Given the description of an element on the screen output the (x, y) to click on. 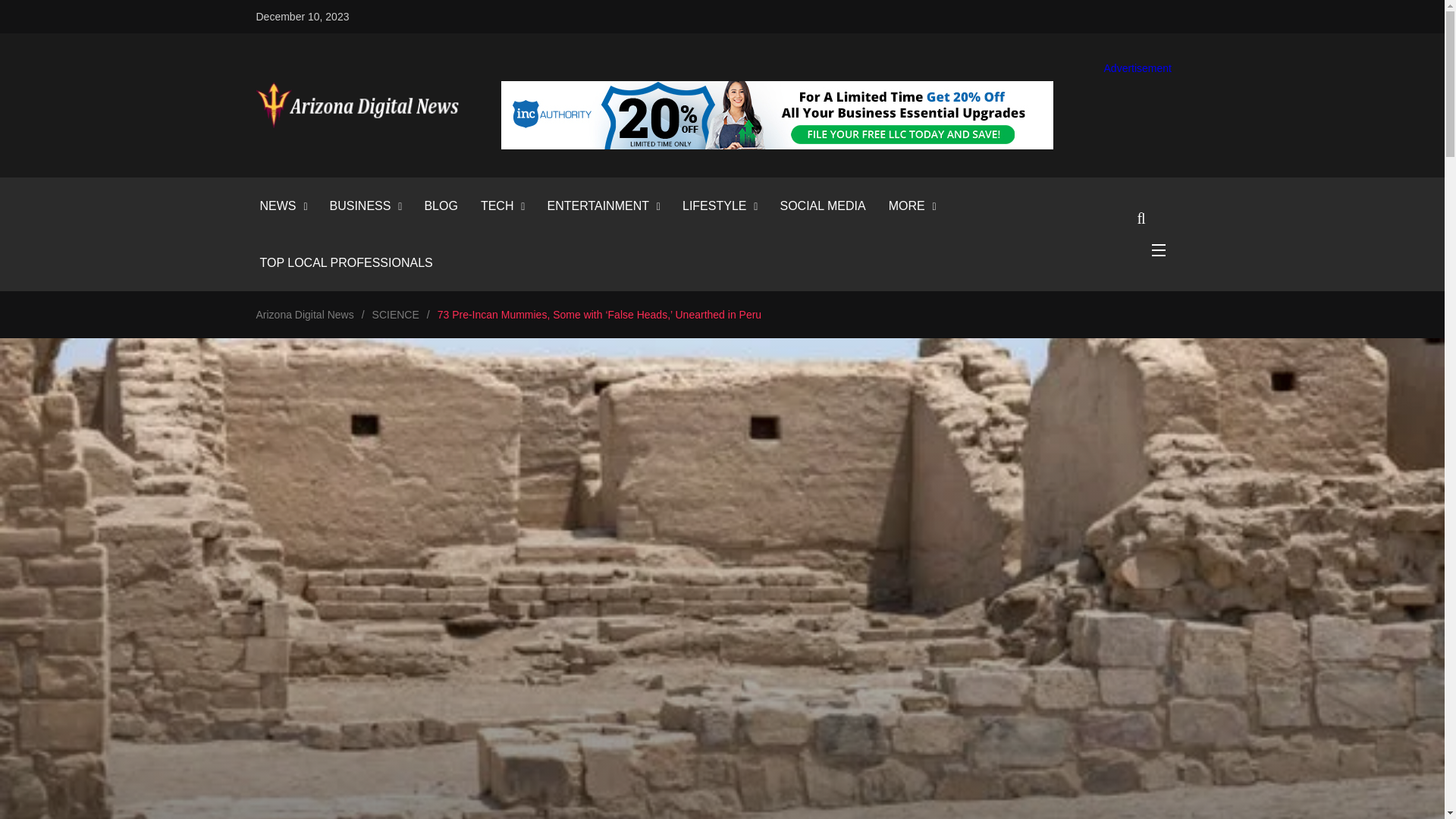
SOCIAL MEDIA (821, 206)
BUSINESS (359, 206)
ENTERTAINMENT (598, 206)
Go to the SCIENCE Category archives. (395, 314)
LIFESTYLE (713, 206)
Go to Arizona Digital News. (304, 314)
TECH (496, 206)
MORE (906, 206)
NEWS (277, 206)
BLOG (440, 206)
